Given the description of an element on the screen output the (x, y) to click on. 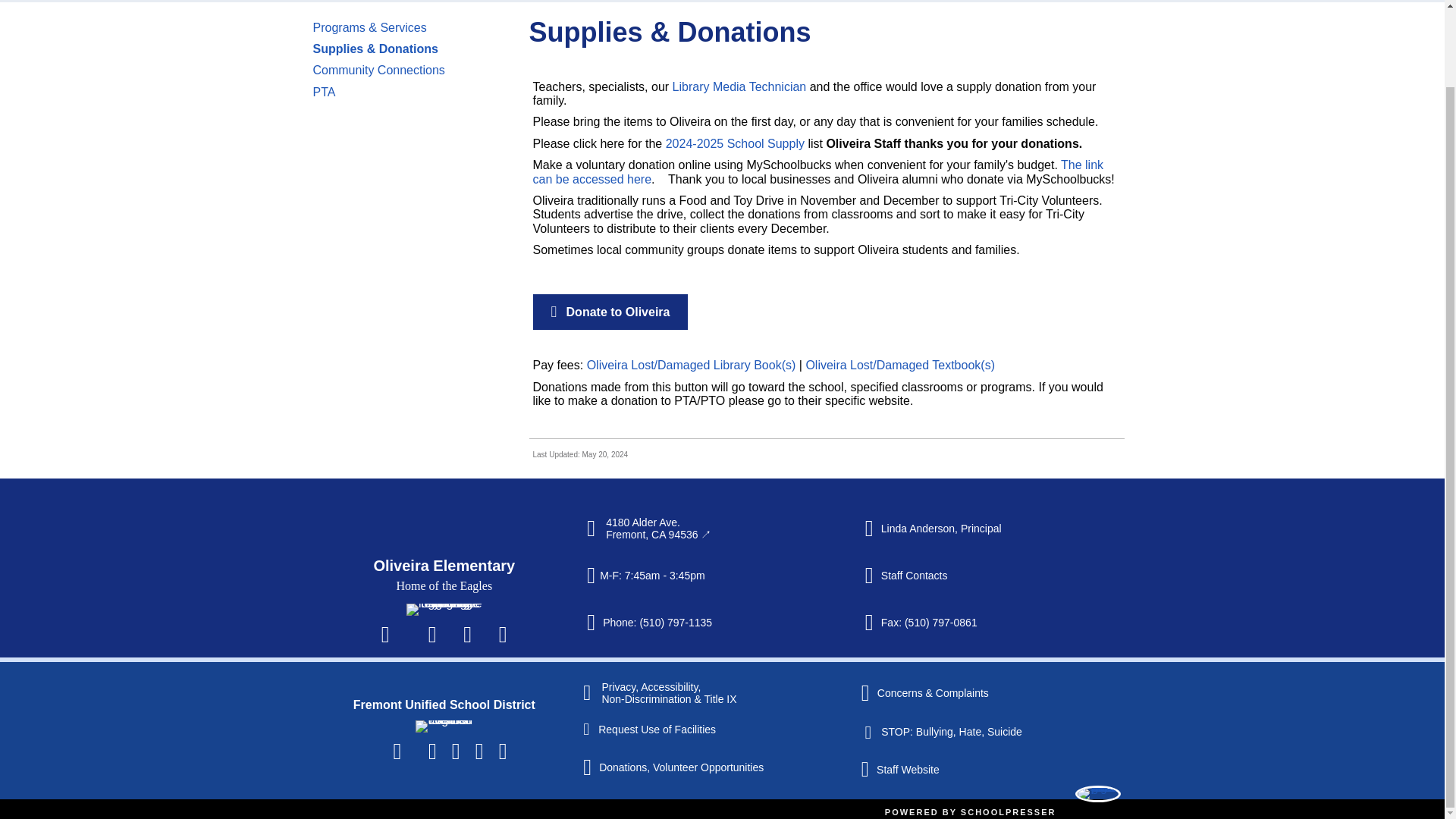
fusd-logo (442, 709)
Peachjar (502, 618)
Oliveira Elementary (443, 485)
oliveira (443, 561)
